Given the description of an element on the screen output the (x, y) to click on. 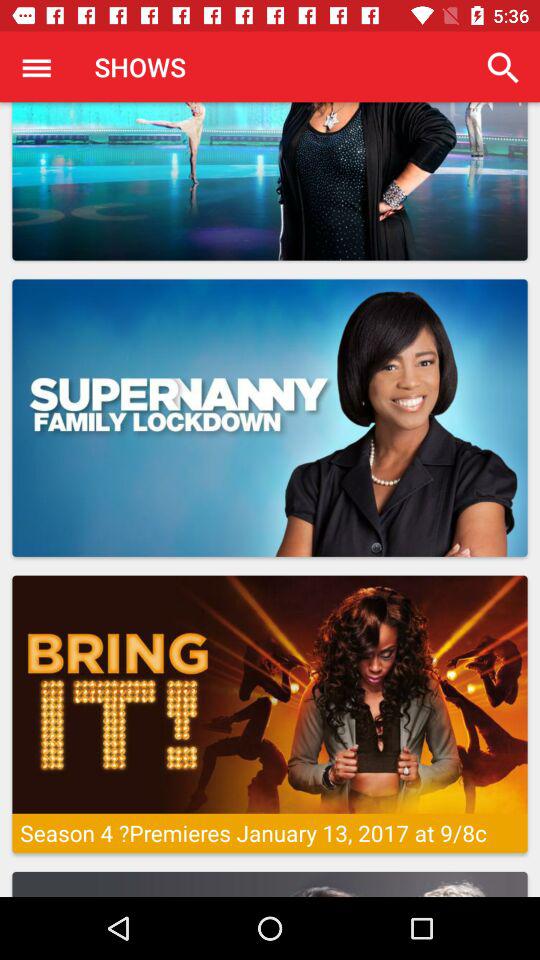
open app to the right of the shows (503, 67)
